Given the description of an element on the screen output the (x, y) to click on. 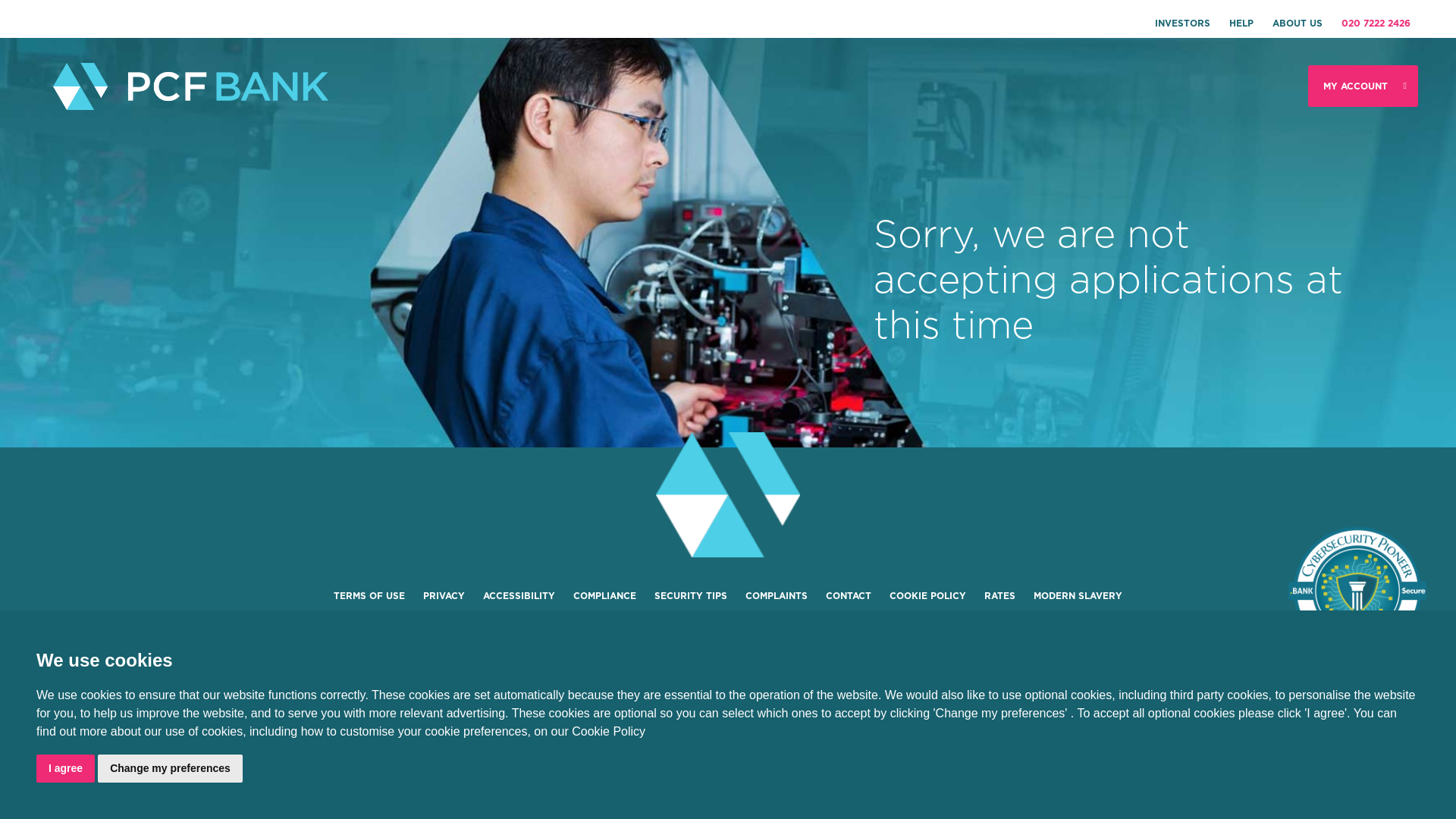
INVESTORS Element type: text (1182, 23)
RATES Element type: text (999, 595)
ACCESSIBILITY Element type: text (519, 595)
HELP Element type: text (1241, 23)
COMPLAINTS Element type: text (776, 595)
COMPLIANCE Element type: text (604, 595)
MODERN SLAVERY Element type: text (1077, 595)
CONTACT Element type: text (848, 595)
I agree Element type: text (65, 768)
TERMS OF USE Element type: text (368, 595)
Change my preferences Element type: text (169, 768)
020 7222 2426 Element type: text (1375, 23)
Cookie Policy Element type: text (608, 732)
MY ACCOUNT Element type: text (1363, 85)
PRIVACY Element type: text (443, 595)
ABOUT US Element type: text (1297, 23)
SECURITY TIPS Element type: text (690, 595)
COOKIE POLICY Element type: text (927, 595)
